Given the description of an element on the screen output the (x, y) to click on. 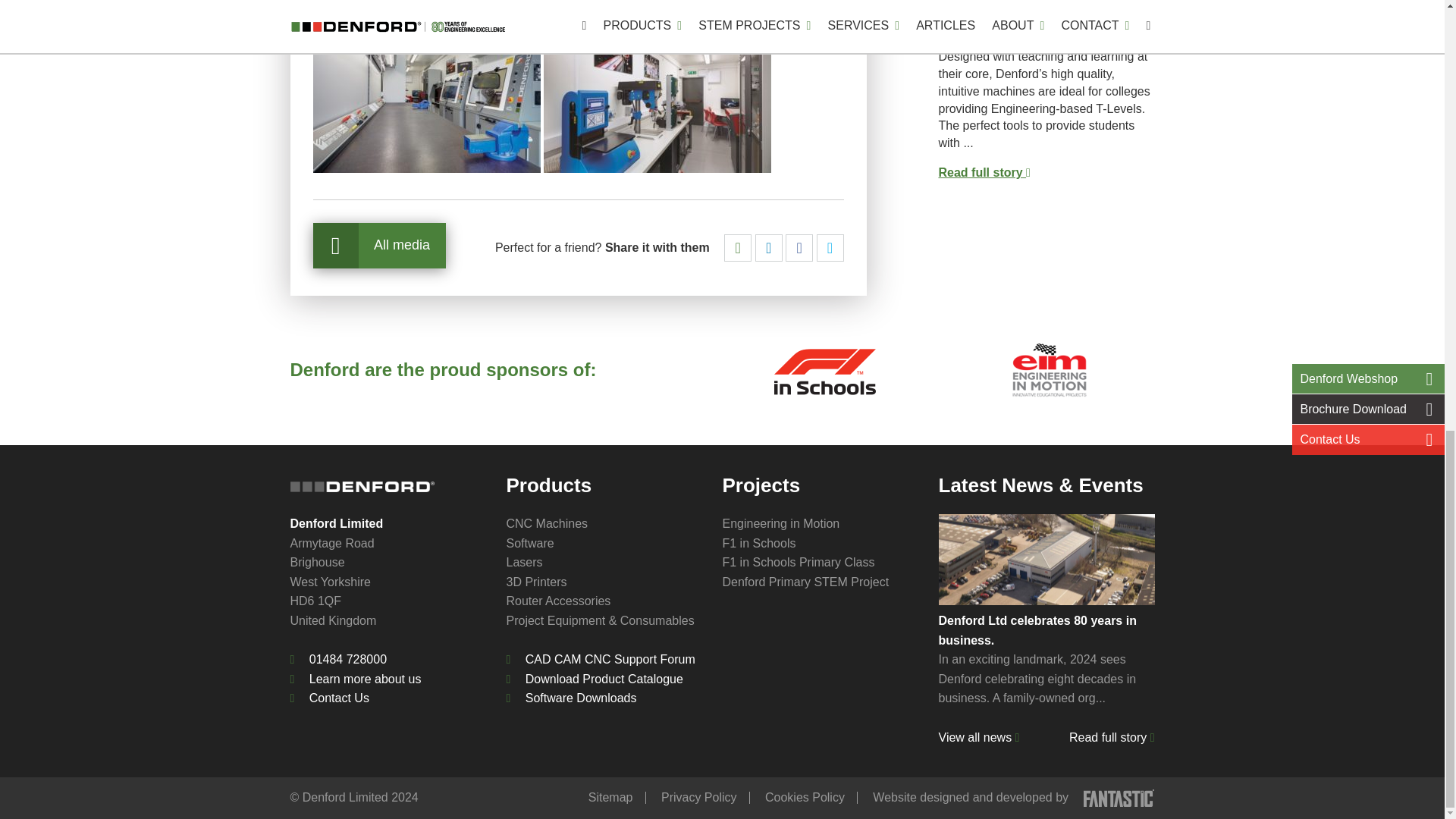
Share on LinkedIn (769, 247)
Share via twitter (829, 247)
Share on Facebook (799, 247)
Share via email (737, 247)
